Given the description of an element on the screen output the (x, y) to click on. 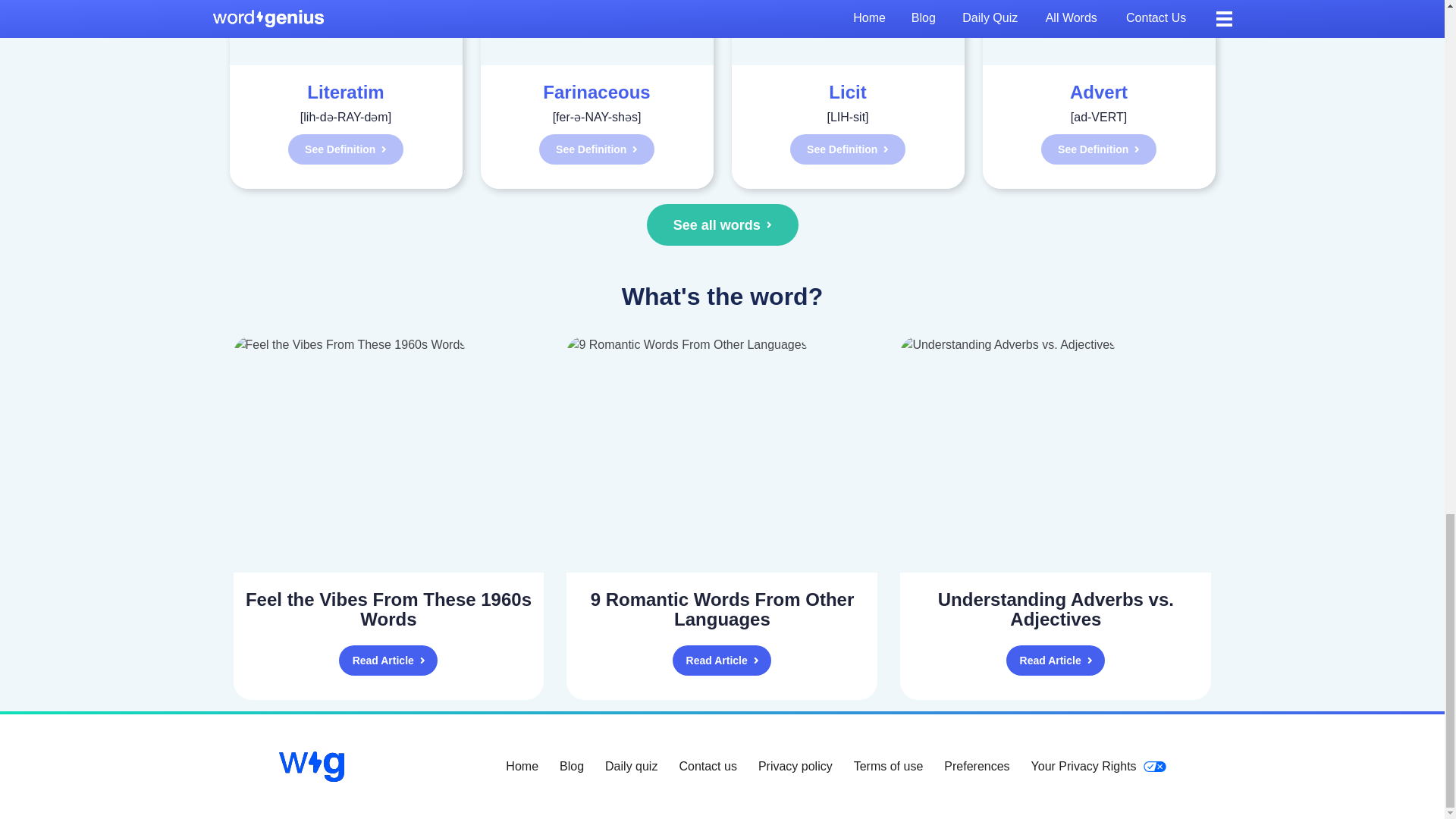
See Definition (345, 149)
Understanding Adverbs vs. Adjectives (1055, 609)
9 Romantic Words From Other Languages (722, 609)
Daily quiz (631, 767)
Terms of use (888, 767)
Home (521, 767)
See Definition (1098, 149)
Read Article (388, 660)
See all words (721, 224)
Privacy policy (795, 767)
See Definition (595, 149)
Read Article (1055, 660)
Contact us (707, 767)
Read Article (721, 660)
See Definition (847, 149)
